Given the description of an element on the screen output the (x, y) to click on. 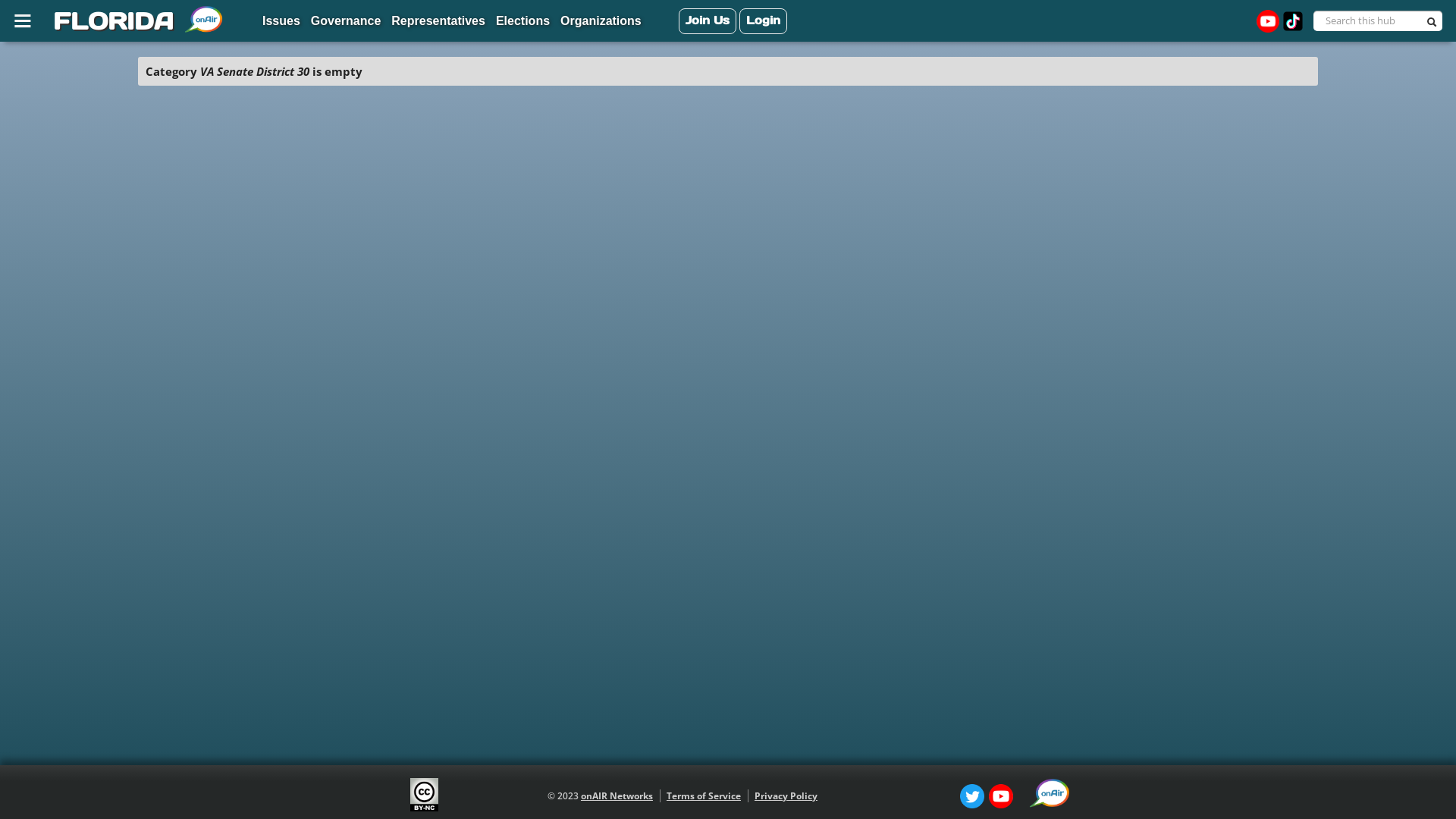
Organizations Element type: text (600, 21)
Search Element type: text (1433, 23)
onAIR Icon [external resource] Element type: hover (1050, 793)
Issues Element type: text (280, 21)
Governance Element type: text (345, 21)
Login Element type: text (763, 21)
Site Map Element type: hover (24, 20)
Privacy Policy Element type: text (785, 795)
Join Us Element type: text (707, 21)
Elections Element type: text (522, 21)
FLORIDA Element type: text (109, 20)
Representatives Element type: text (437, 21)
Terms of Service Element type: text (703, 795)
onAIR Networks Element type: text (616, 795)
